Given the description of an element on the screen output the (x, y) to click on. 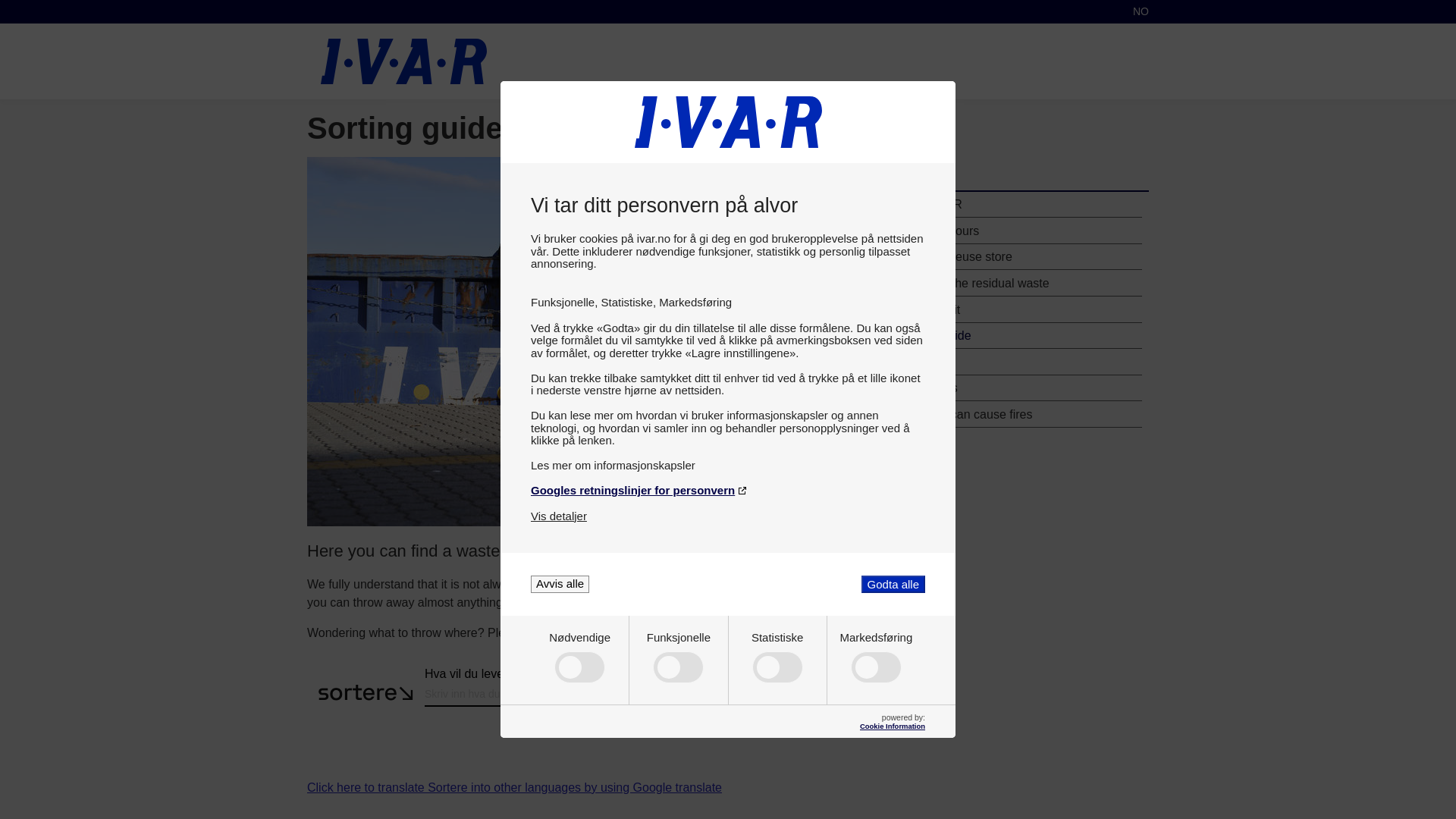
Cookie Information (892, 725)
Vis detaljer (558, 515)
Avvis alle (560, 583)
Les mer om informasjonskapsler (727, 464)
Googles retningslinjer for personvern (727, 490)
Godta alle (892, 583)
